Given the description of an element on the screen output the (x, y) to click on. 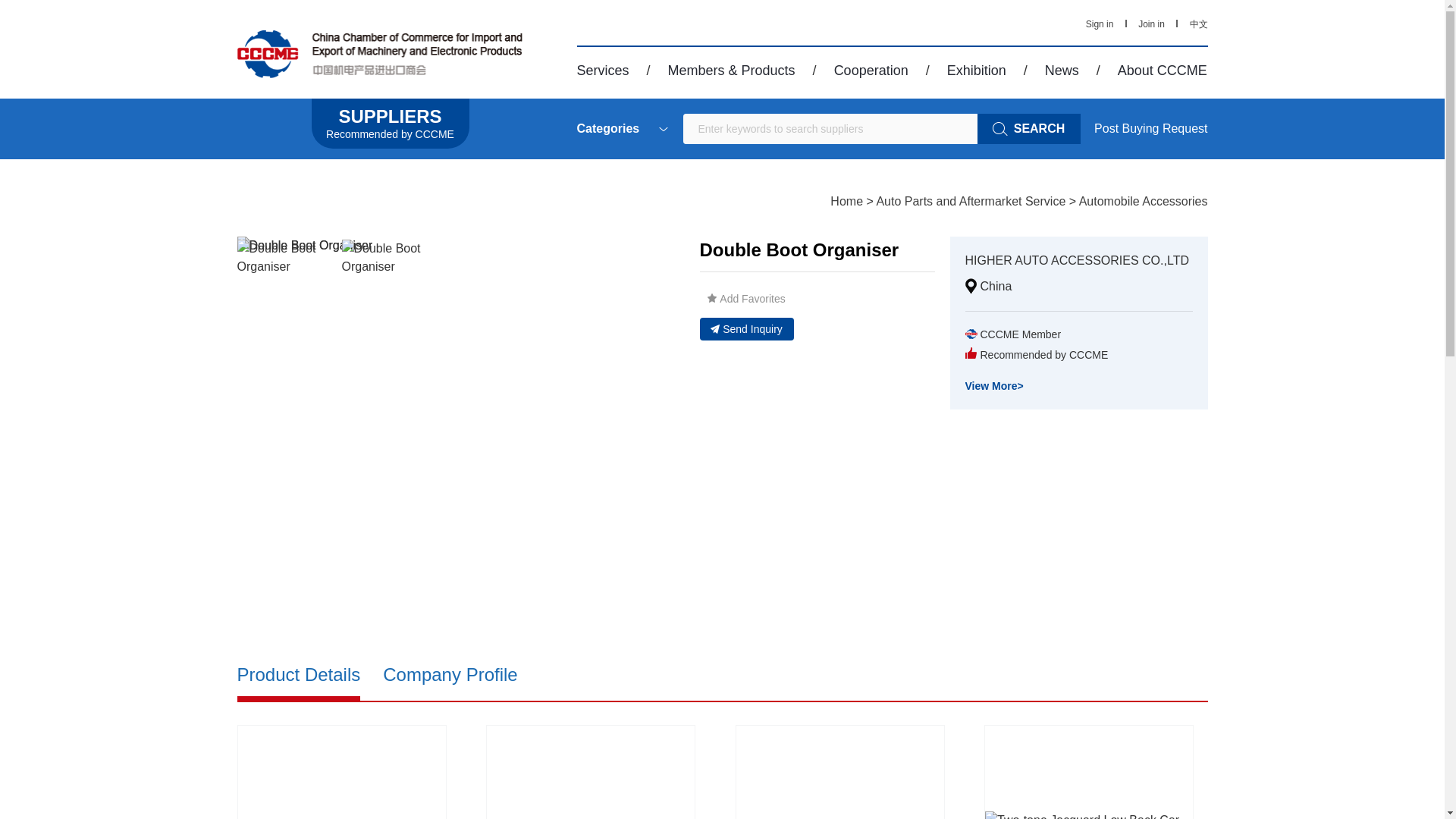
Car Back Cushion Lumbar Support (590, 771)
Sign in (1099, 23)
Cooperation (871, 70)
About CCCME (1162, 70)
Join in (1151, 23)
News (1061, 70)
Services (602, 70)
Exhibition (976, 70)
Triple Boot Organiser (340, 771)
car floor mat (839, 771)
Two-tone Jacquard Low Back Car Seat Cover (1088, 771)
